Given the description of an element on the screen output the (x, y) to click on. 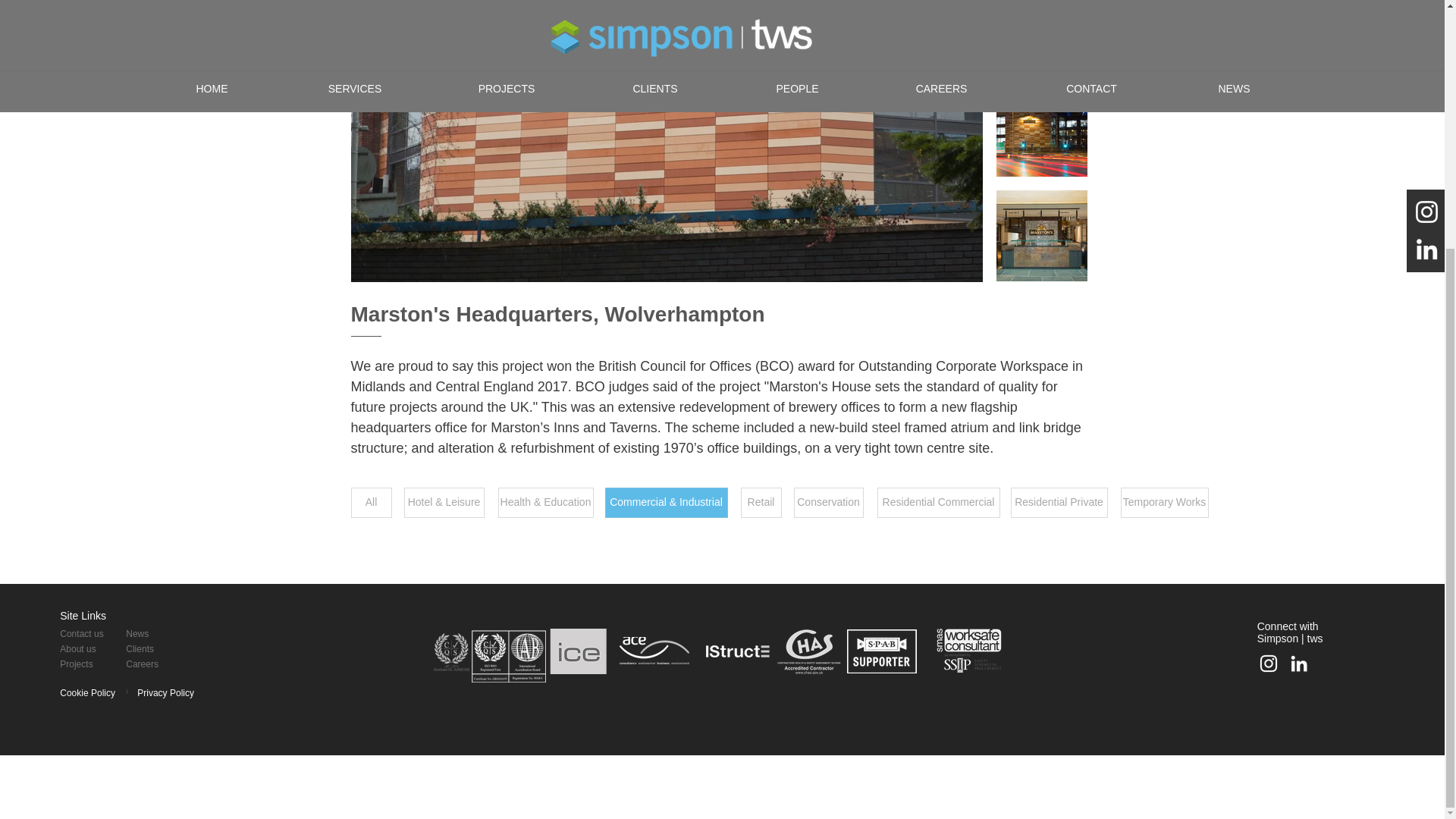
Residential Private (1058, 502)
Residential Commercial (937, 502)
Retail (759, 502)
Conservation (828, 502)
All (370, 502)
